Given the description of an element on the screen output the (x, y) to click on. 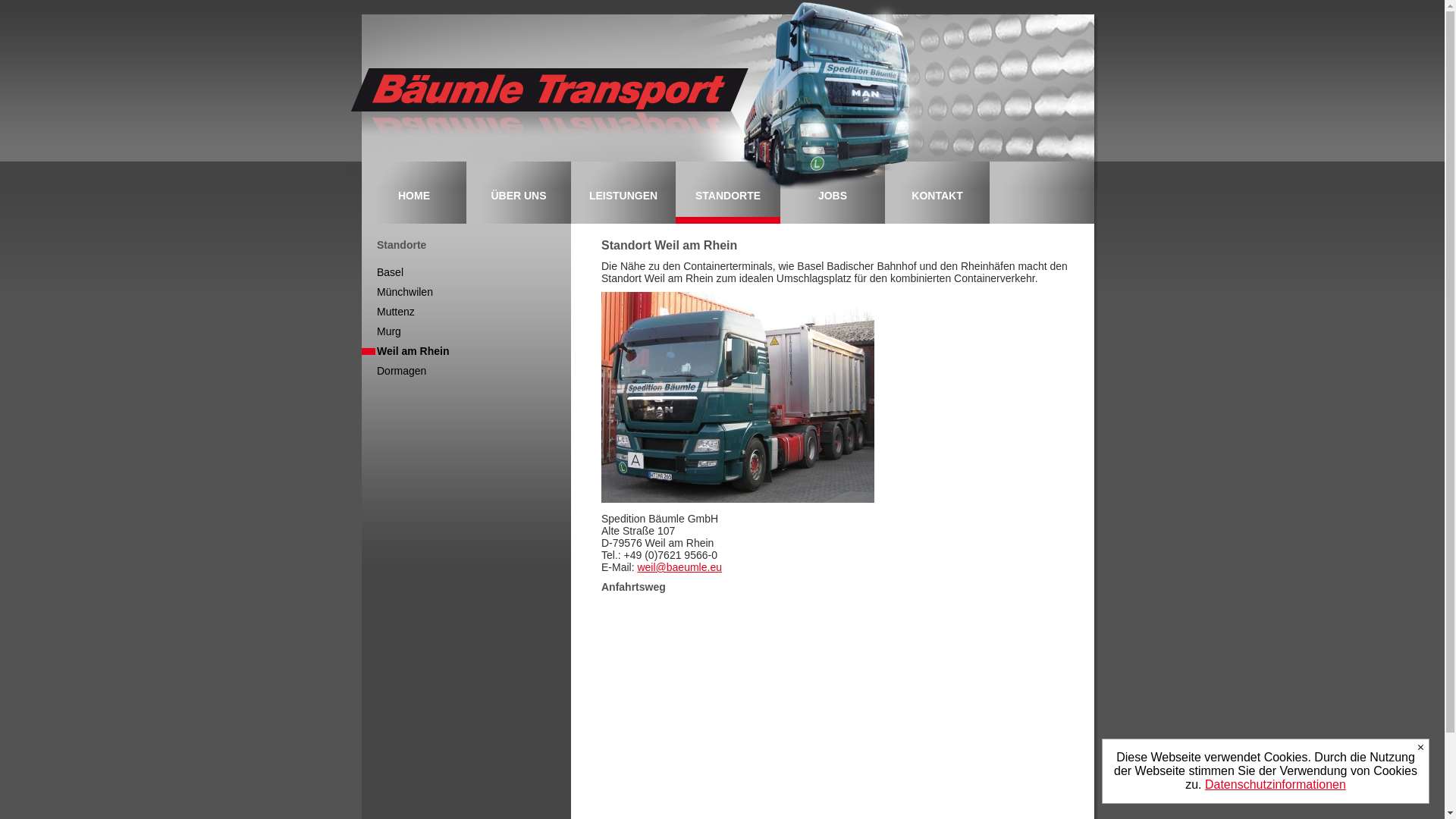
Murg Element type: text (381, 331)
Basel Element type: text (382, 272)
Datenschutzinformationen Element type: text (1275, 784)
Muttenz Element type: text (387, 311)
weil@baeumle.eu Element type: text (679, 567)
KONTAKT Element type: text (936, 205)
Weil am Rhein Element type: text (404, 351)
Dormagen Element type: text (393, 370)
LEISTUNGEN Element type: text (623, 205)
HOME Element type: text (413, 205)
STANDORTE Element type: text (727, 206)
Ich stimme zu Element type: text (1420, 747)
JOBS Element type: text (832, 205)
